Given the description of an element on the screen output the (x, y) to click on. 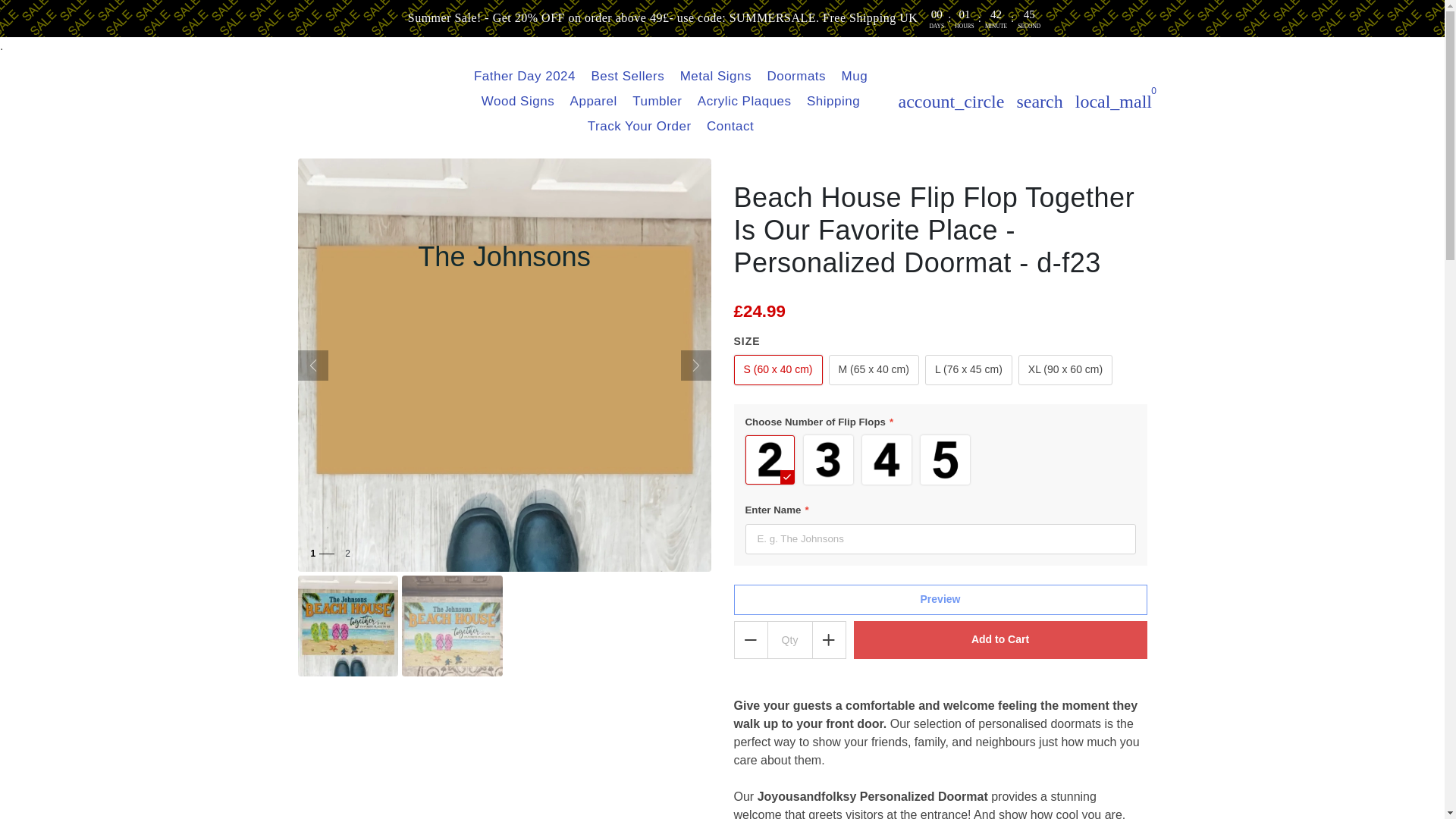
Father Day 2024 (523, 75)
Log In (950, 101)
Next (696, 365)
Search (1039, 101)
Cart (1112, 101)
Prev (312, 365)
